Given the description of an element on the screen output the (x, y) to click on. 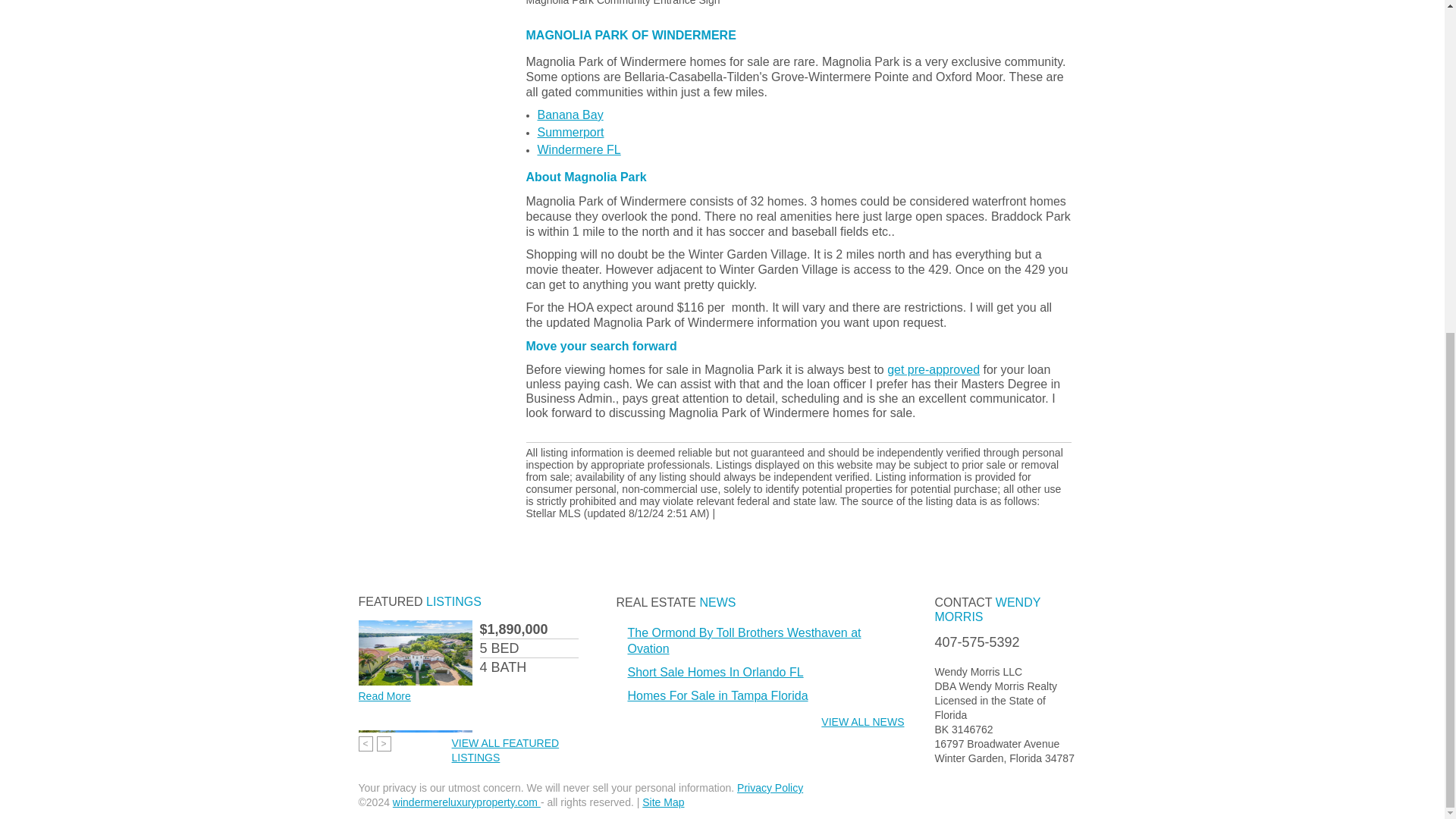
Read More (384, 695)
Windermere FL (578, 150)
get pre-approved (932, 369)
Summerport (570, 132)
Banana Bay (569, 114)
